Given the description of an element on the screen output the (x, y) to click on. 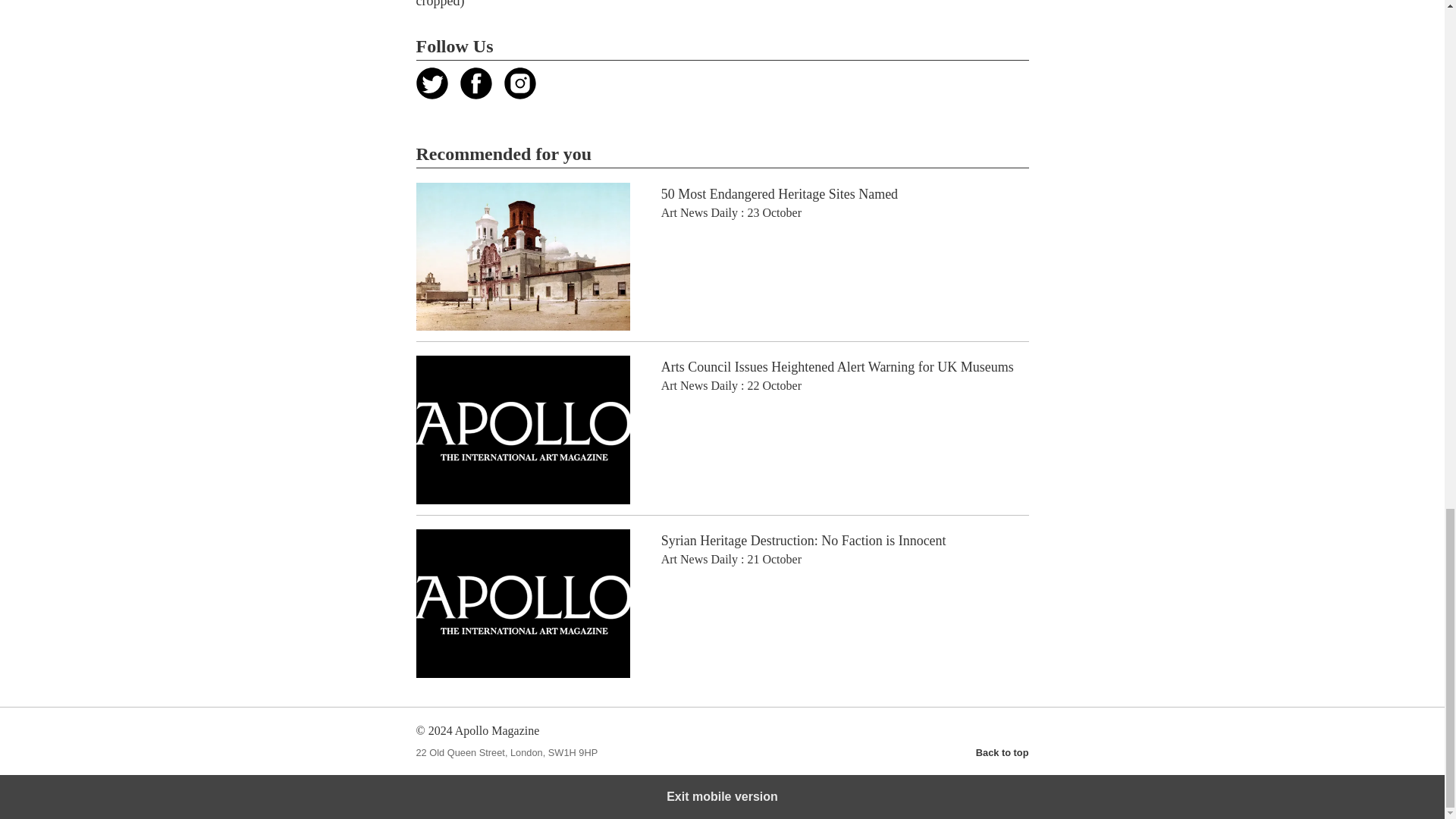
Back to top (1002, 752)
